Given the description of an element on the screen output the (x, y) to click on. 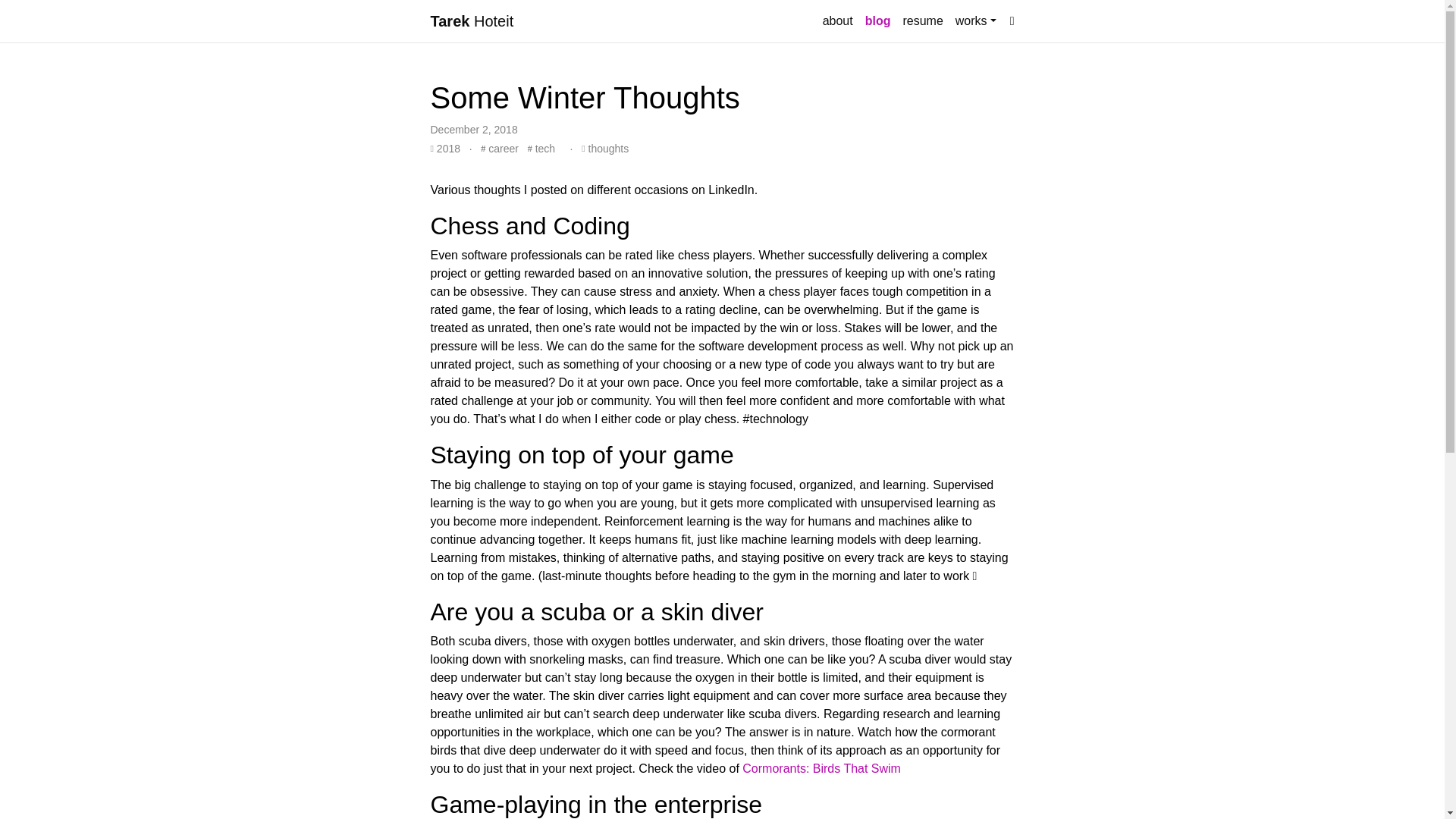
2018 (446, 148)
Tarek Hoteit (471, 20)
Cormorants: Birds That Swim (821, 768)
career (499, 148)
tech (540, 148)
works (976, 20)
thoughts (604, 148)
about (837, 20)
resume (922, 20)
